Given the description of an element on the screen output the (x, y) to click on. 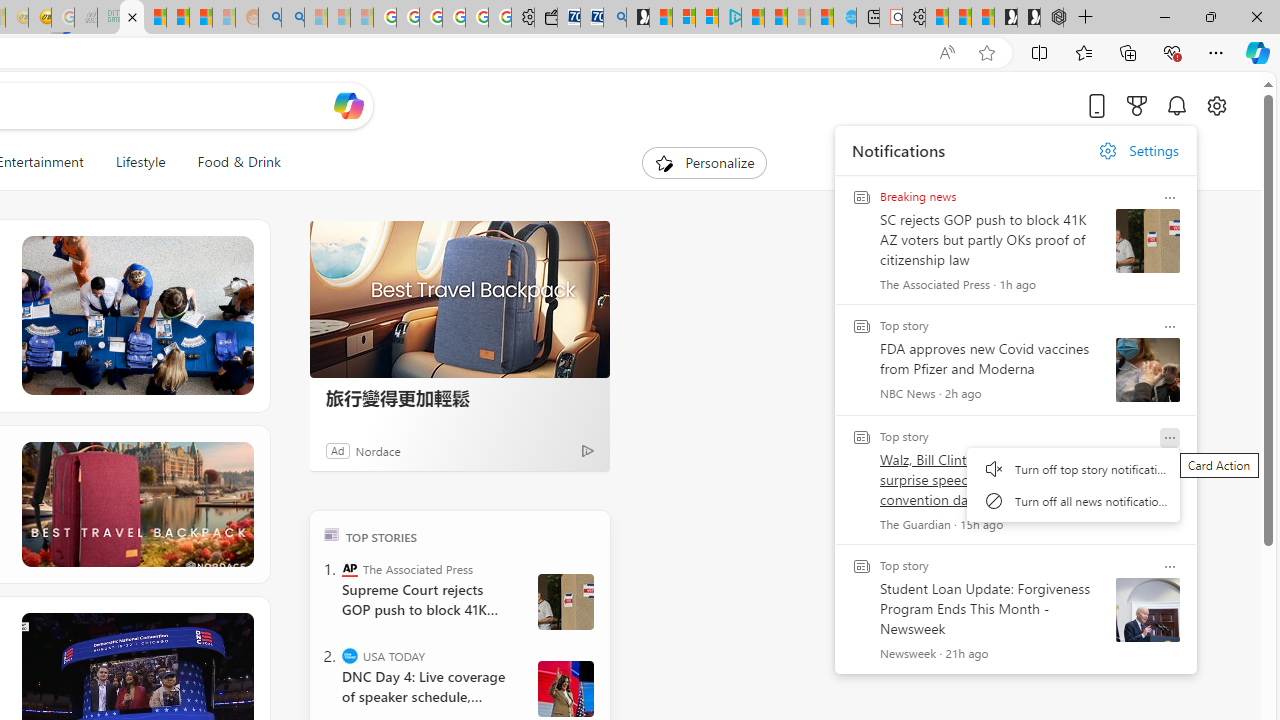
Bing Real Estate - Home sales and rental listings (614, 17)
Card Action (1169, 566)
